Given the description of an element on the screen output the (x, y) to click on. 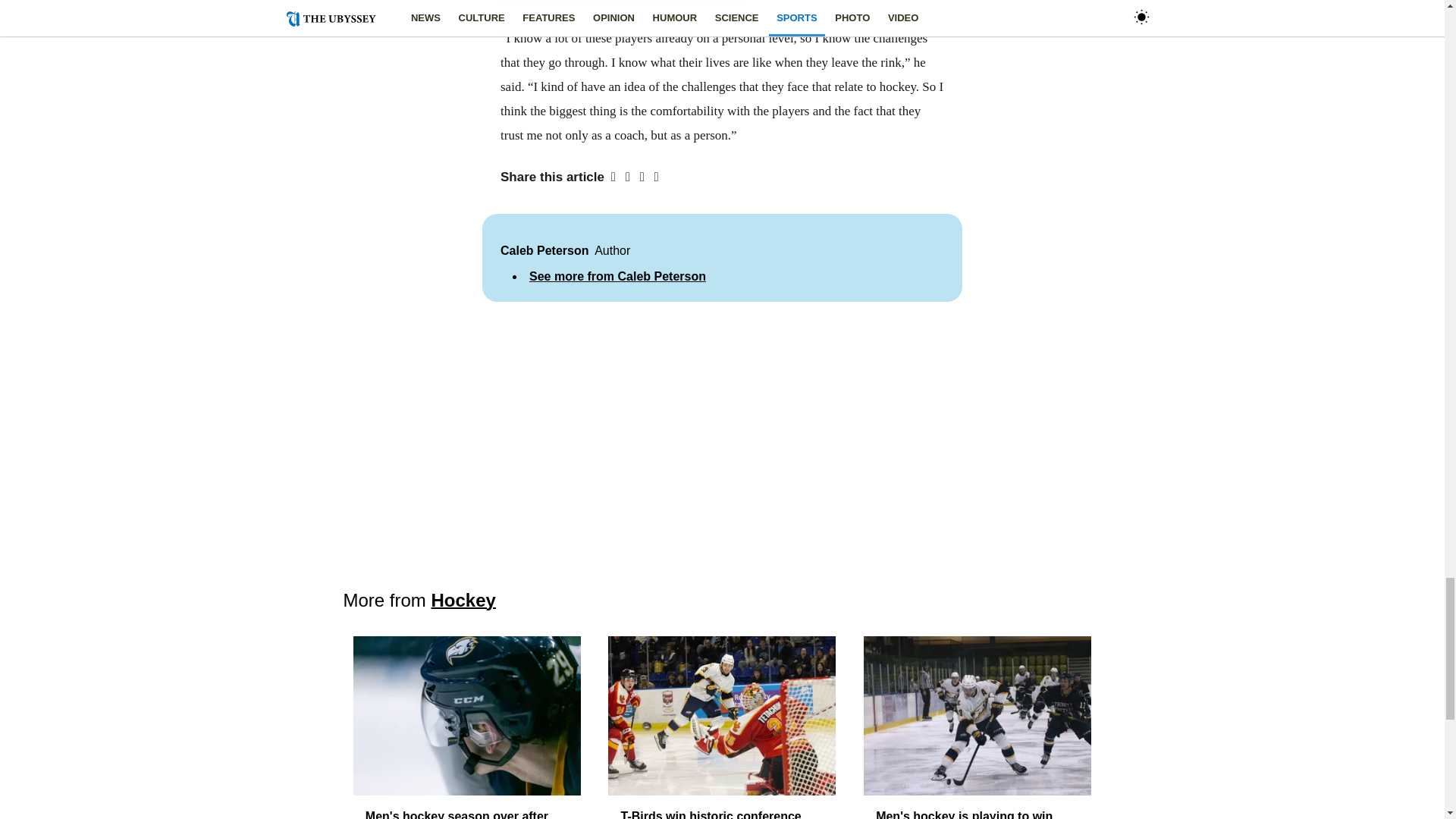
Caleb Peterson (544, 250)
